Given the description of an element on the screen output the (x, y) to click on. 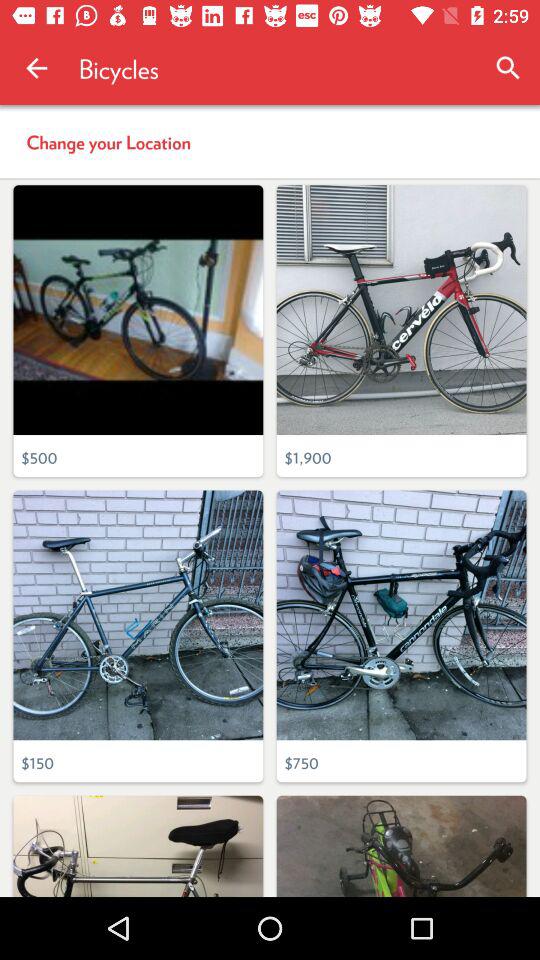
choose the icon above the change your location item (508, 67)
